Given the description of an element on the screen output the (x, y) to click on. 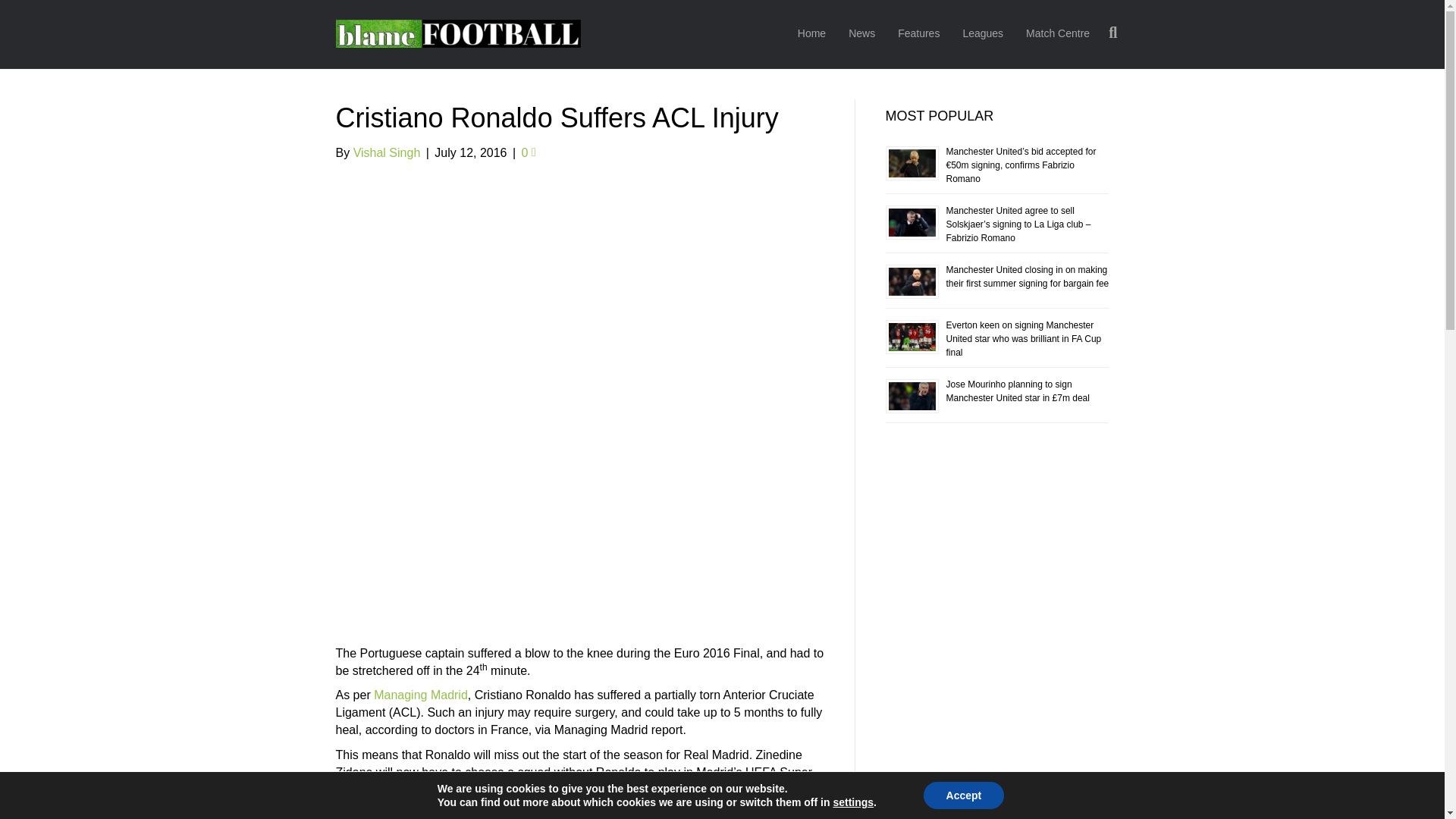
Home (811, 34)
Leagues (982, 34)
Features (918, 34)
Advertisement (579, 539)
News (861, 34)
Match Centre (1057, 34)
